Given the description of an element on the screen output the (x, y) to click on. 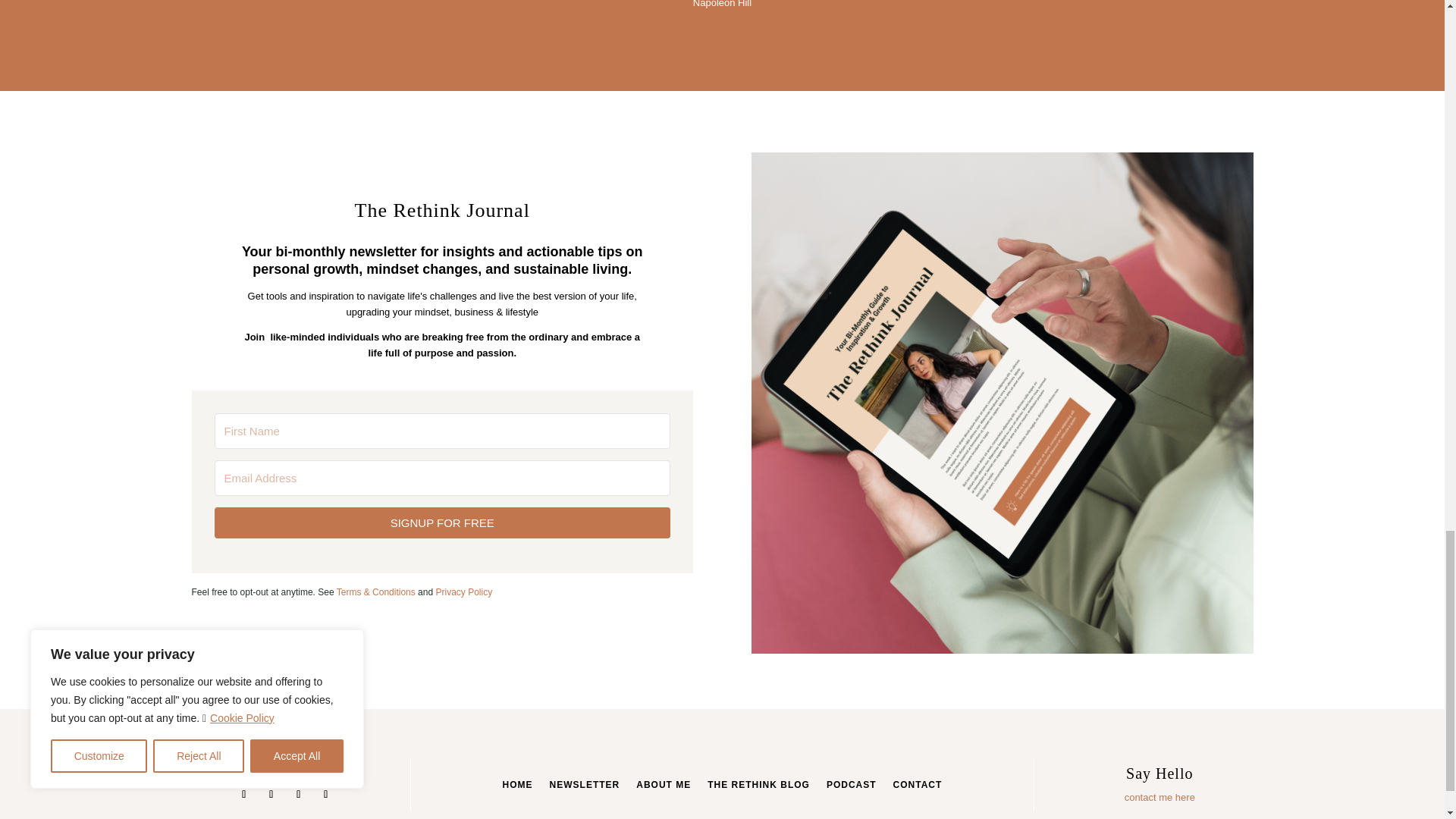
Follow on Instagram (243, 794)
Follow on LinkedIn (271, 794)
Follow on TikTok (325, 794)
Follow on Youtube (298, 794)
